Given the description of an element on the screen output the (x, y) to click on. 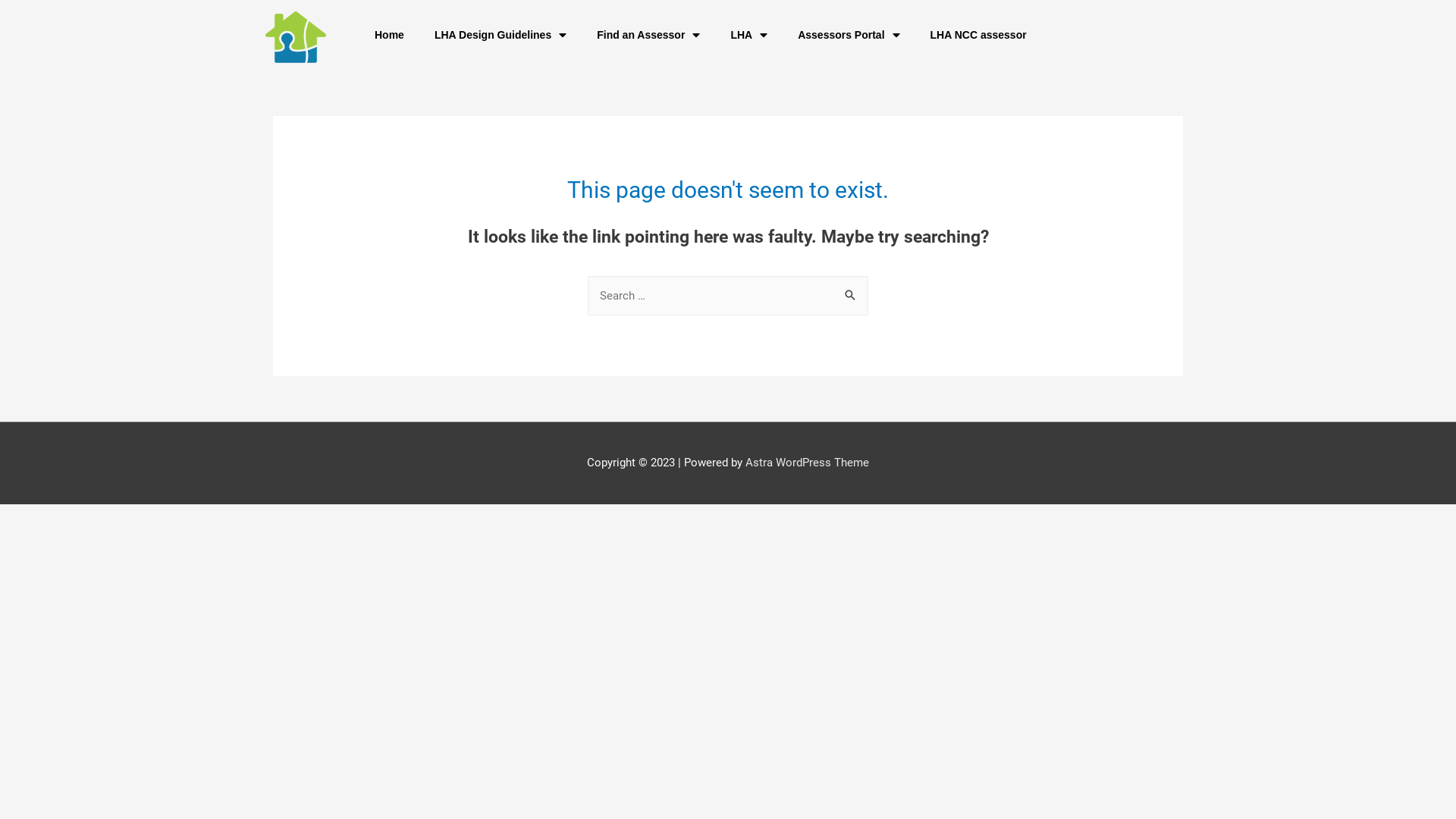
LHA Design Guidelines Element type: text (498, 34)
LHA Element type: text (741, 34)
LHA NCC assessor Element type: text (978, 34)
Find an Assessor Element type: text (643, 34)
Astra WordPress Theme Element type: text (807, 462)
Search Element type: text (851, 291)
Assessors Portal Element type: text (837, 34)
Home Element type: text (389, 34)
